Given the description of an element on the screen output the (x, y) to click on. 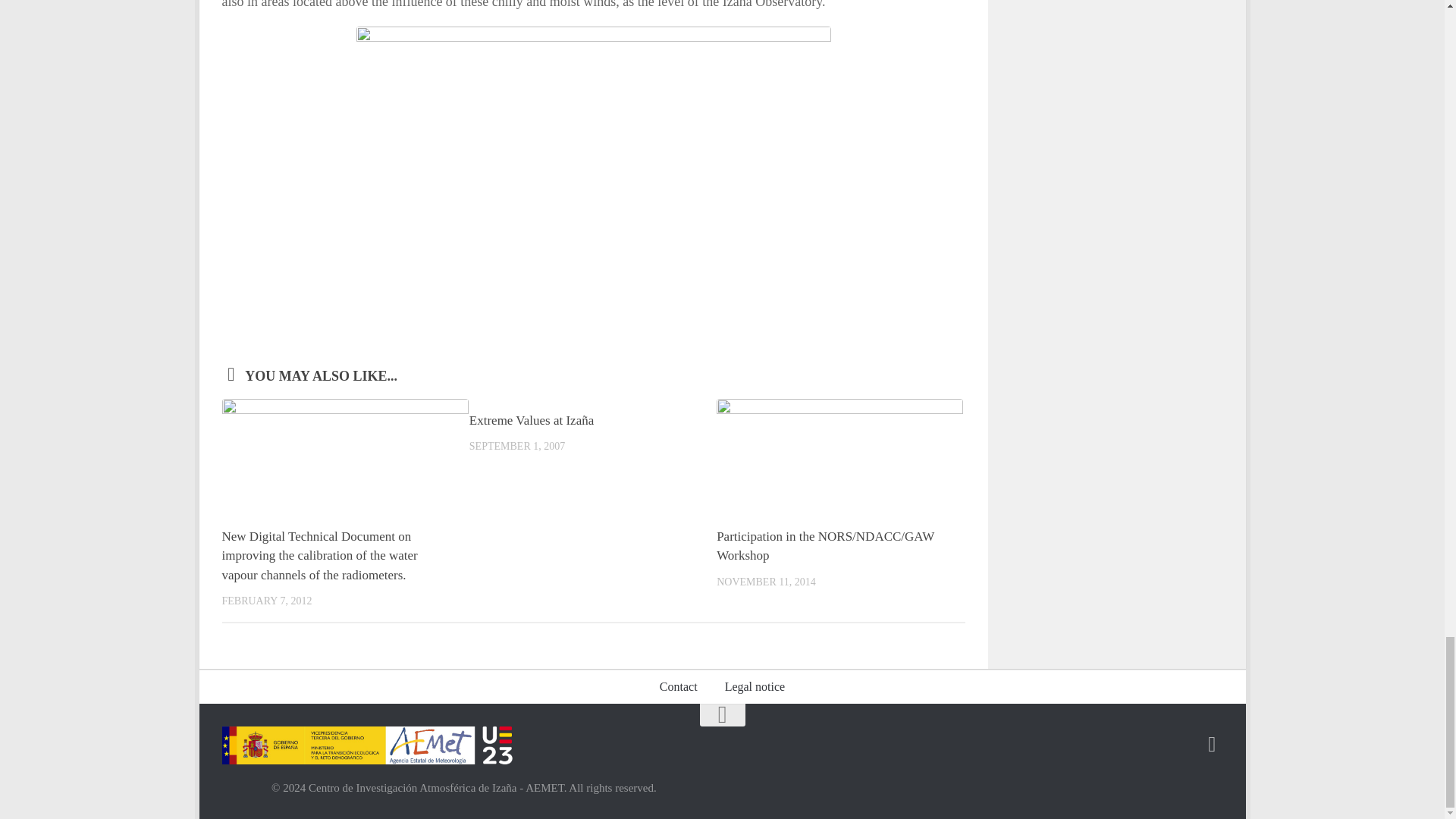
Follow us on Twitter (1212, 744)
